Given the description of an element on the screen output the (x, y) to click on. 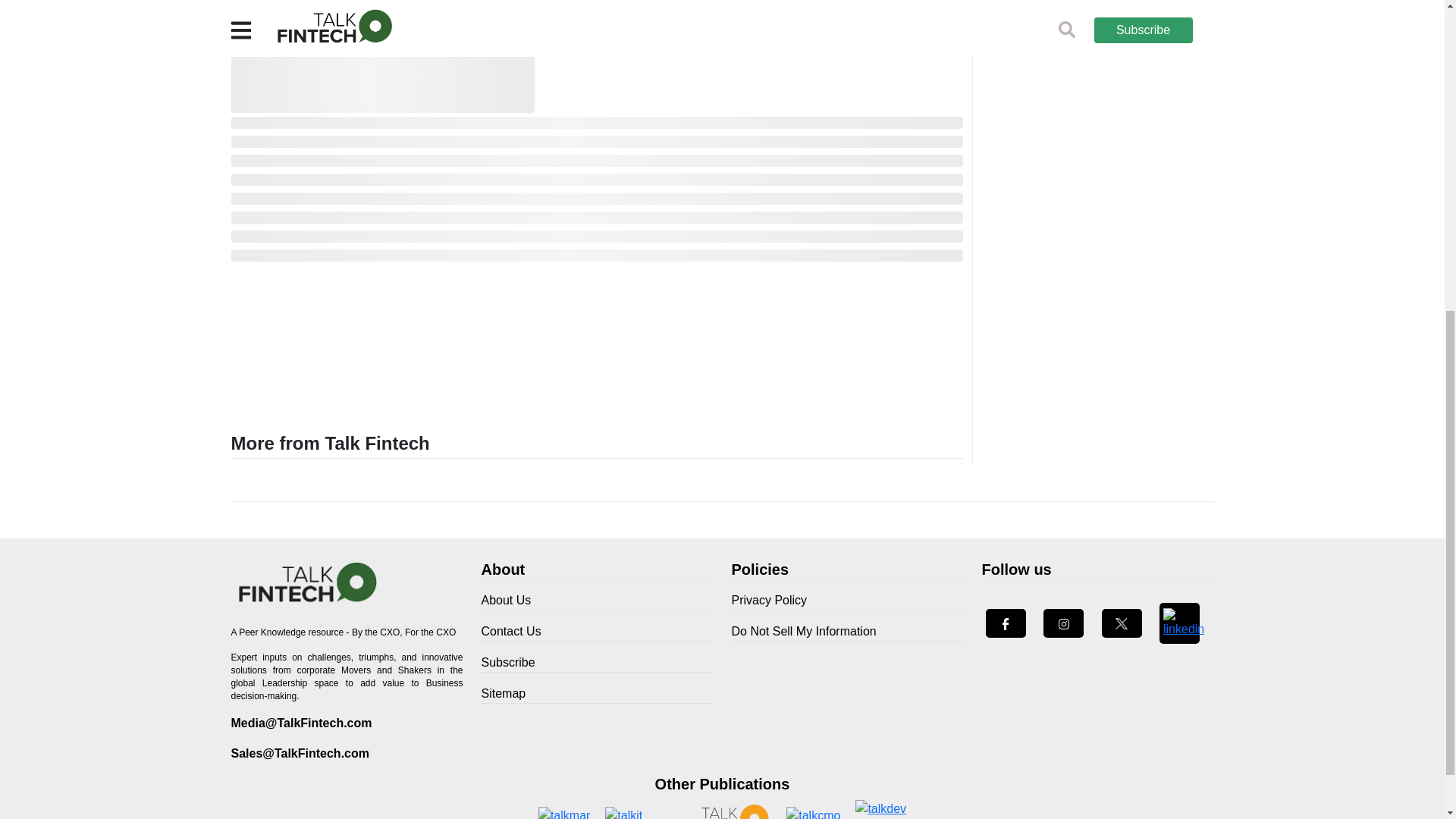
Do Not Sell My Information (846, 631)
Contact Us (596, 631)
Sitemap (596, 693)
Privacy Policy (846, 600)
About Us (596, 600)
